Given the description of an element on the screen output the (x, y) to click on. 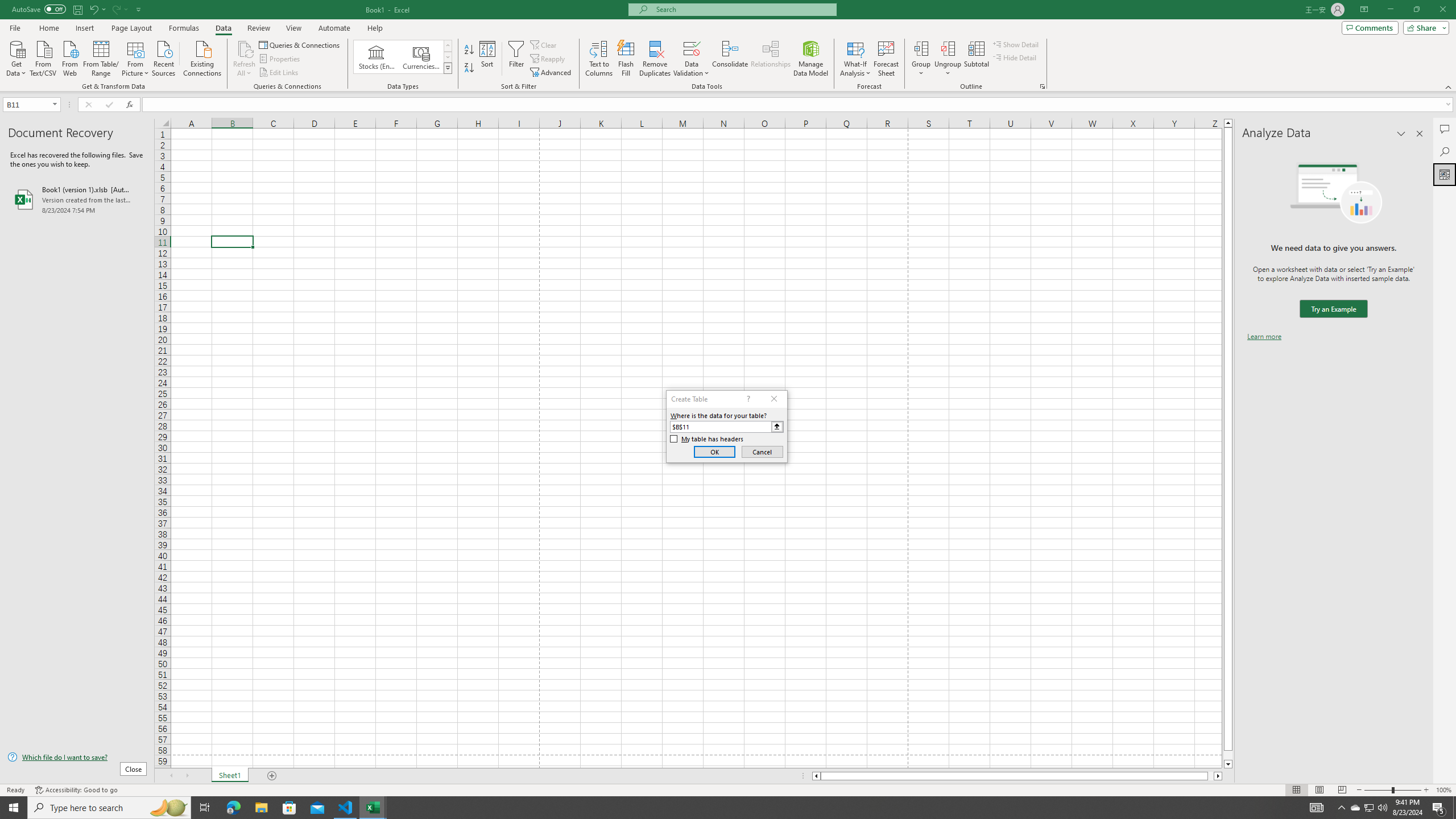
Class: MsoCommandBar (728, 45)
Ungroup... (947, 58)
Restore Down (1416, 9)
From Text/CSV (43, 57)
Text to Columns... (598, 58)
Class: NetUIImage (447, 68)
Show Detail (1016, 44)
Forecast Sheet (885, 58)
Properties (280, 58)
Book1 (version 1).xlsb  [AutoRecovered] (77, 199)
